Given the description of an element on the screen output the (x, y) to click on. 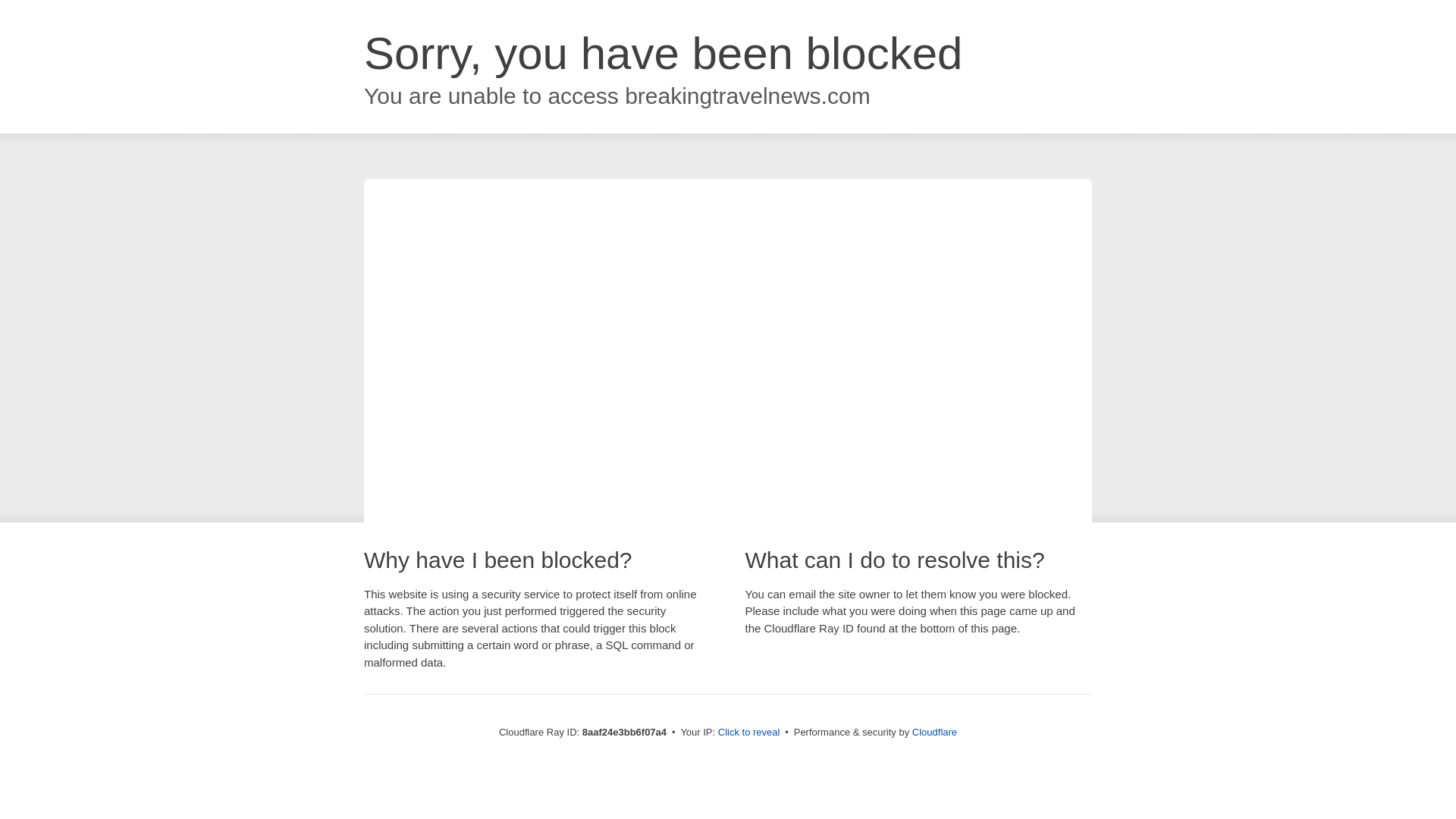
Cloudflare (934, 731)
Click to reveal (748, 732)
